Given the description of an element on the screen output the (x, y) to click on. 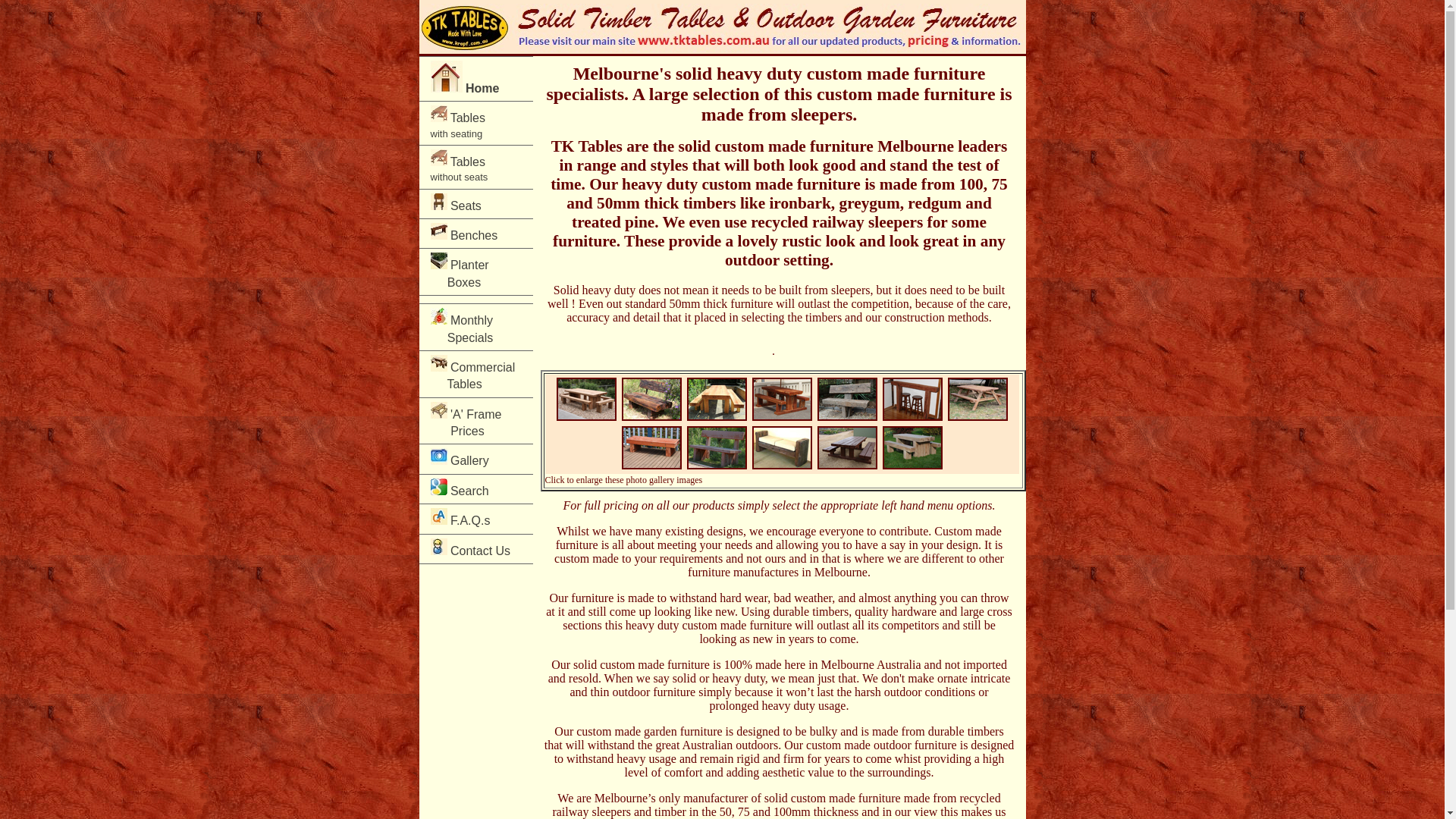
Benches Element type: text (475, 233)
Monthly        Specials Element type: text (475, 327)
Contact Us Element type: text (475, 548)
Australian Element type: text (707, 744)
custom made garden furniture Element type: text (648, 730)
Home Element type: text (475, 78)
Custom Element type: hover (977, 417)
F.A.Q.s Element type: text (475, 518)
Seats Element type: text (475, 203)
Commercial      Tables Element type: text (475, 374)
custom made outdoor furniture Element type: text (881, 744)
Gallery Element type: text (475, 458)
Search Element type: text (475, 488)
custom made furniture Element type: text (652, 664)
Planter         Boxes Element type: text (475, 271)
'A' Frame       Prices Element type: text (475, 421)
Tables
without seats Element type: text (475, 166)
Tables
with seating Element type: text (475, 122)
